Given the description of an element on the screen output the (x, y) to click on. 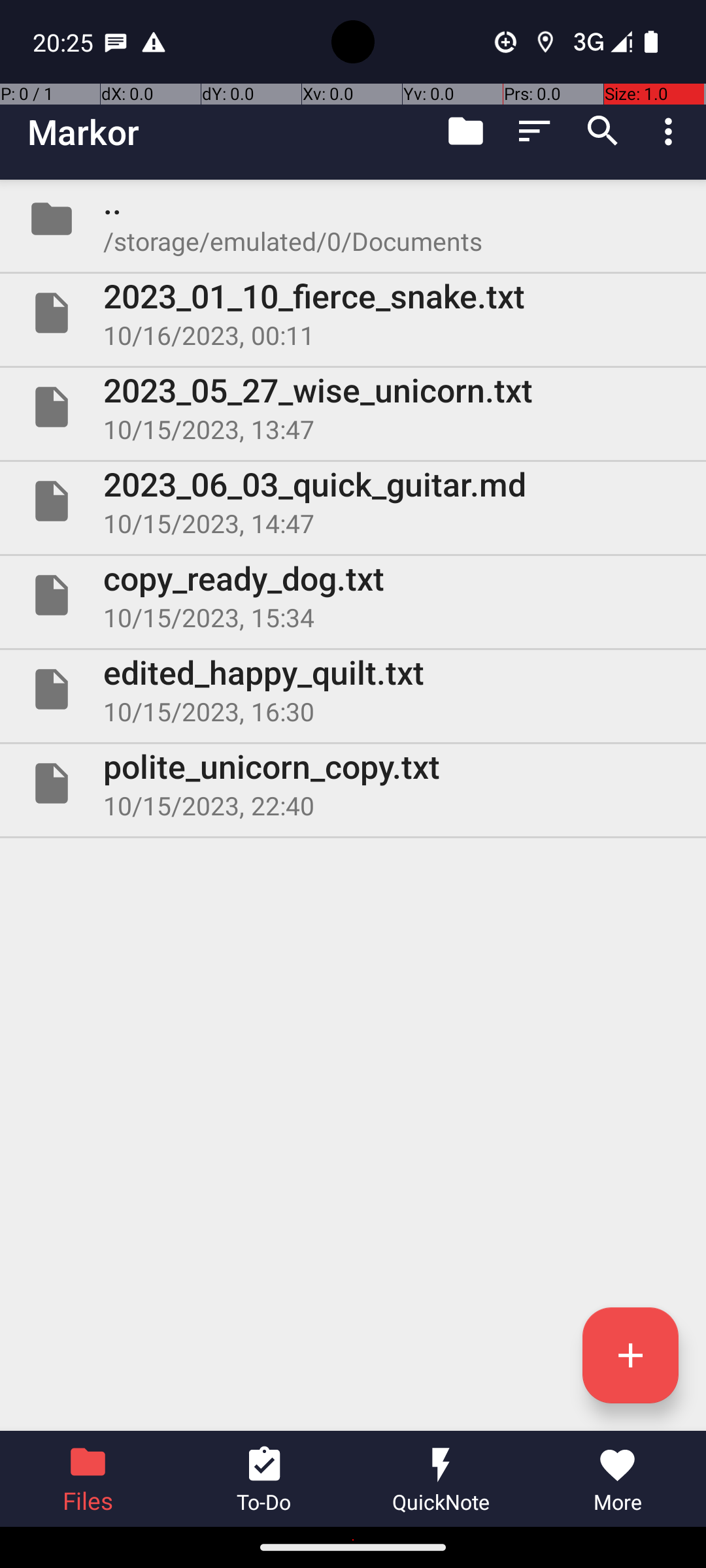
File 2023_01_10_fierce_snake.txt  Element type: android.widget.LinearLayout (353, 312)
File 2023_05_27_wise_unicorn.txt  Element type: android.widget.LinearLayout (353, 406)
File 2023_06_03_quick_guitar.md  Element type: android.widget.LinearLayout (353, 500)
File copy_ready_dog.txt  Element type: android.widget.LinearLayout (353, 594)
File edited_happy_quilt.txt  Element type: android.widget.LinearLayout (353, 689)
File polite_unicorn_copy.txt  Element type: android.widget.LinearLayout (353, 783)
20:25 Element type: android.widget.TextView (64, 41)
